Given the description of an element on the screen output the (x, y) to click on. 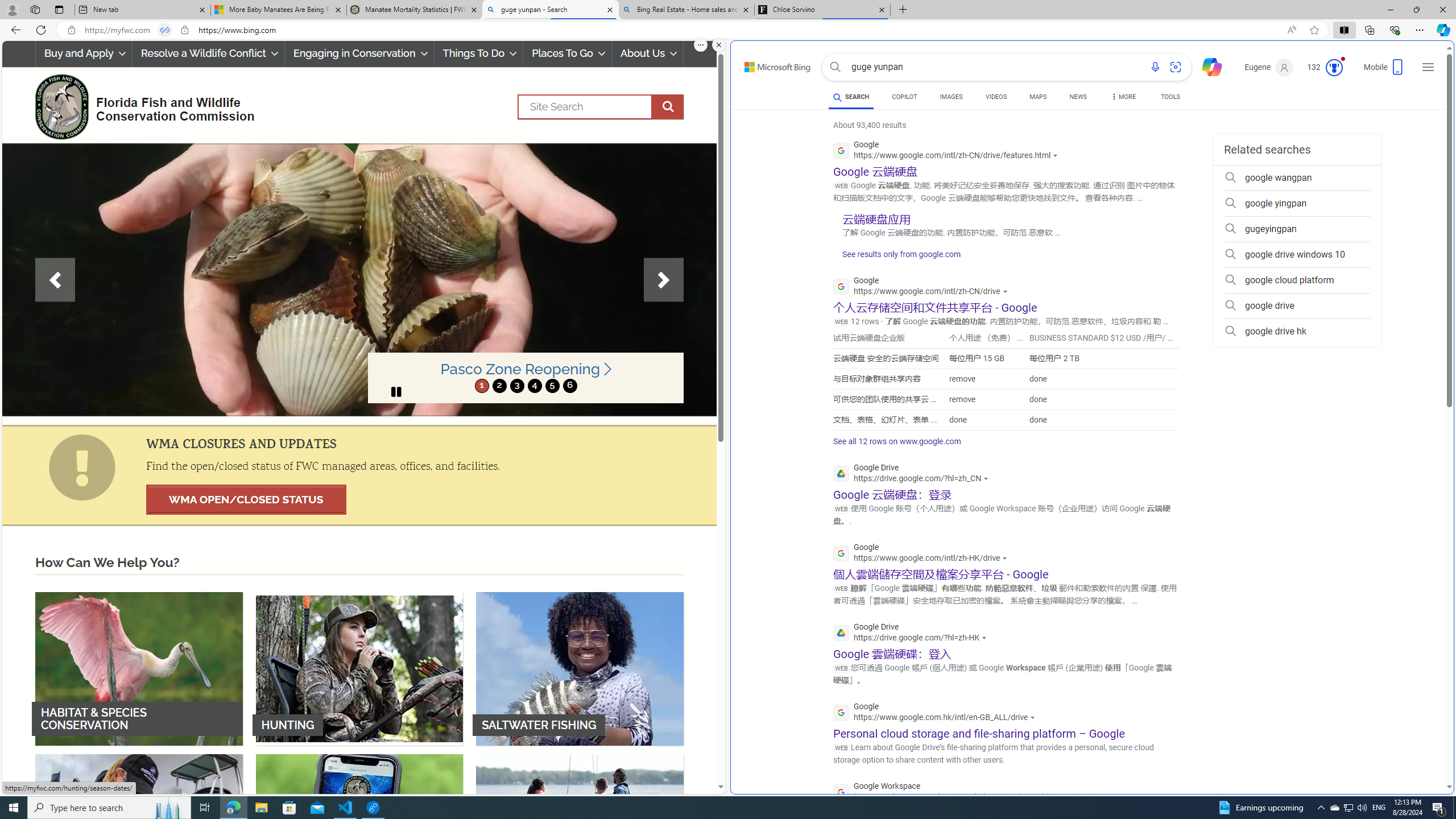
Google (936, 713)
VIDEOS (995, 98)
Add this page to favorites (Ctrl+D) (1314, 29)
COPILOT (903, 96)
About Us (647, 53)
Address and search bar (680, 29)
SALTWATER FISHING (580, 668)
Dropdown Menu (1123, 96)
FWC Logo Florida Fish and Wildlife Conservation Commission (139, 104)
NEWS (1078, 96)
Google Workspace (950, 793)
